Given the description of an element on the screen output the (x, y) to click on. 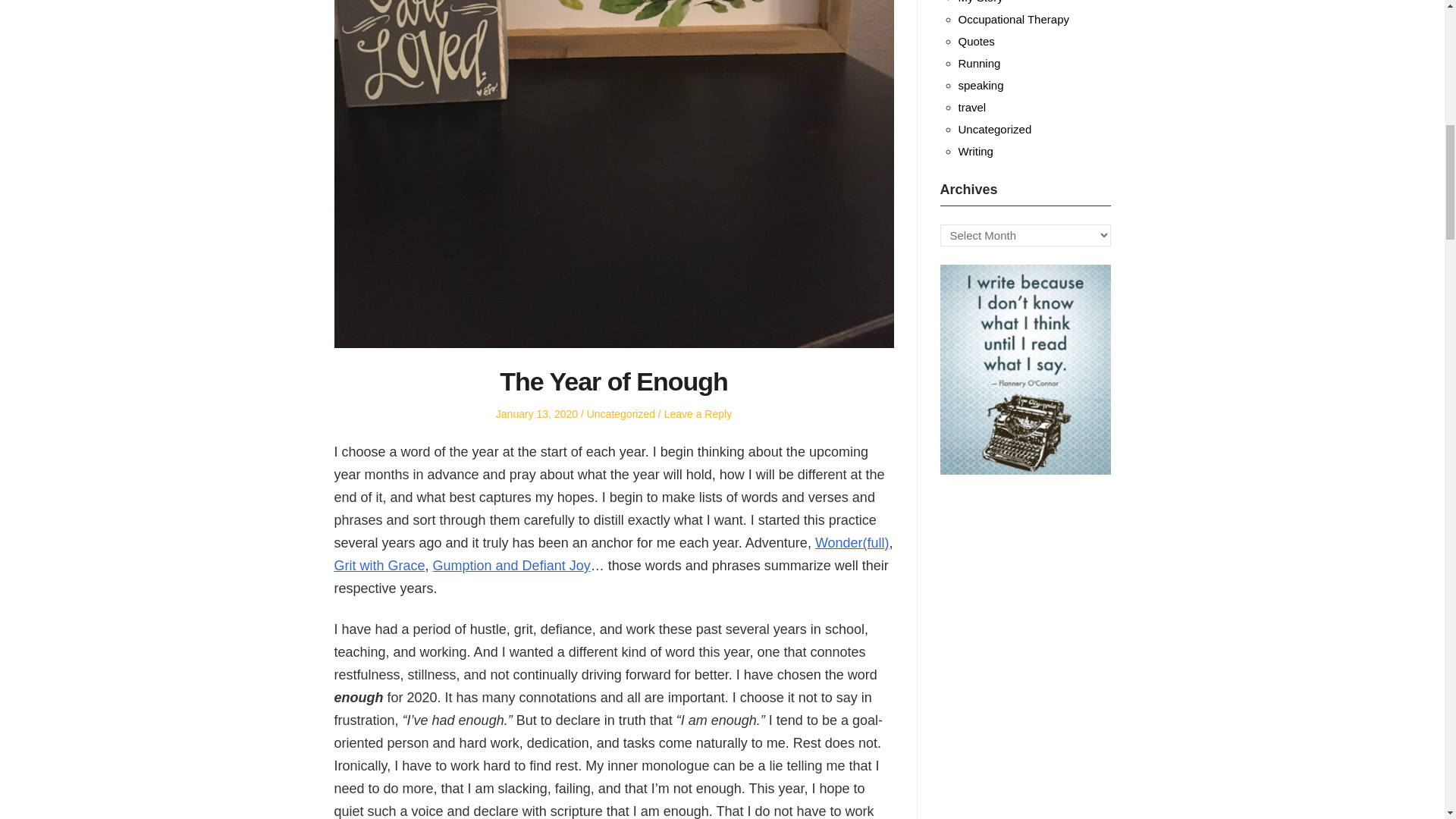
January 13, 2020 (537, 413)
Occupational Therapy (1013, 19)
Leave a Reply (697, 413)
travel (972, 106)
speaking (981, 84)
Gumption and Defiant Joy (511, 565)
Uncategorized (620, 413)
Uncategorized (995, 128)
Quotes (976, 41)
My Story (980, 2)
Running (979, 62)
Grit with Grace (379, 565)
Writing (975, 151)
